Given the description of an element on the screen output the (x, y) to click on. 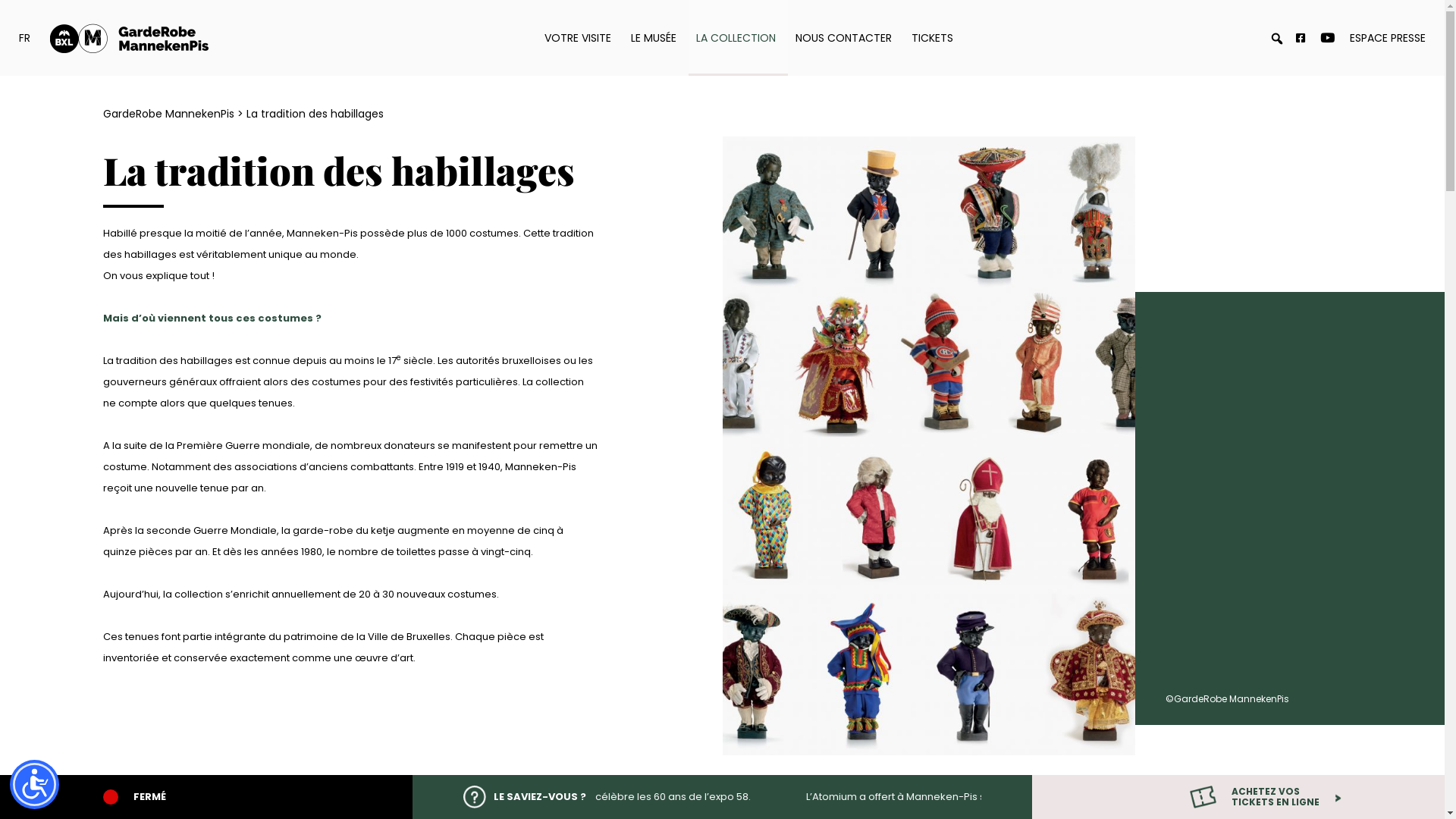
FR Element type: text (26, 37)
VOTRE VISITE Element type: text (579, 37)
TICKETS Element type: text (931, 37)
LA COLLECTION Element type: text (737, 37)
ESPACE PRESSE Element type: text (1387, 37)
NOUS CONTACTER Element type: text (845, 37)
Search Element type: text (11, 10)
GardeRobe MannekenPis Element type: text (168, 113)
